Given the description of an element on the screen output the (x, y) to click on. 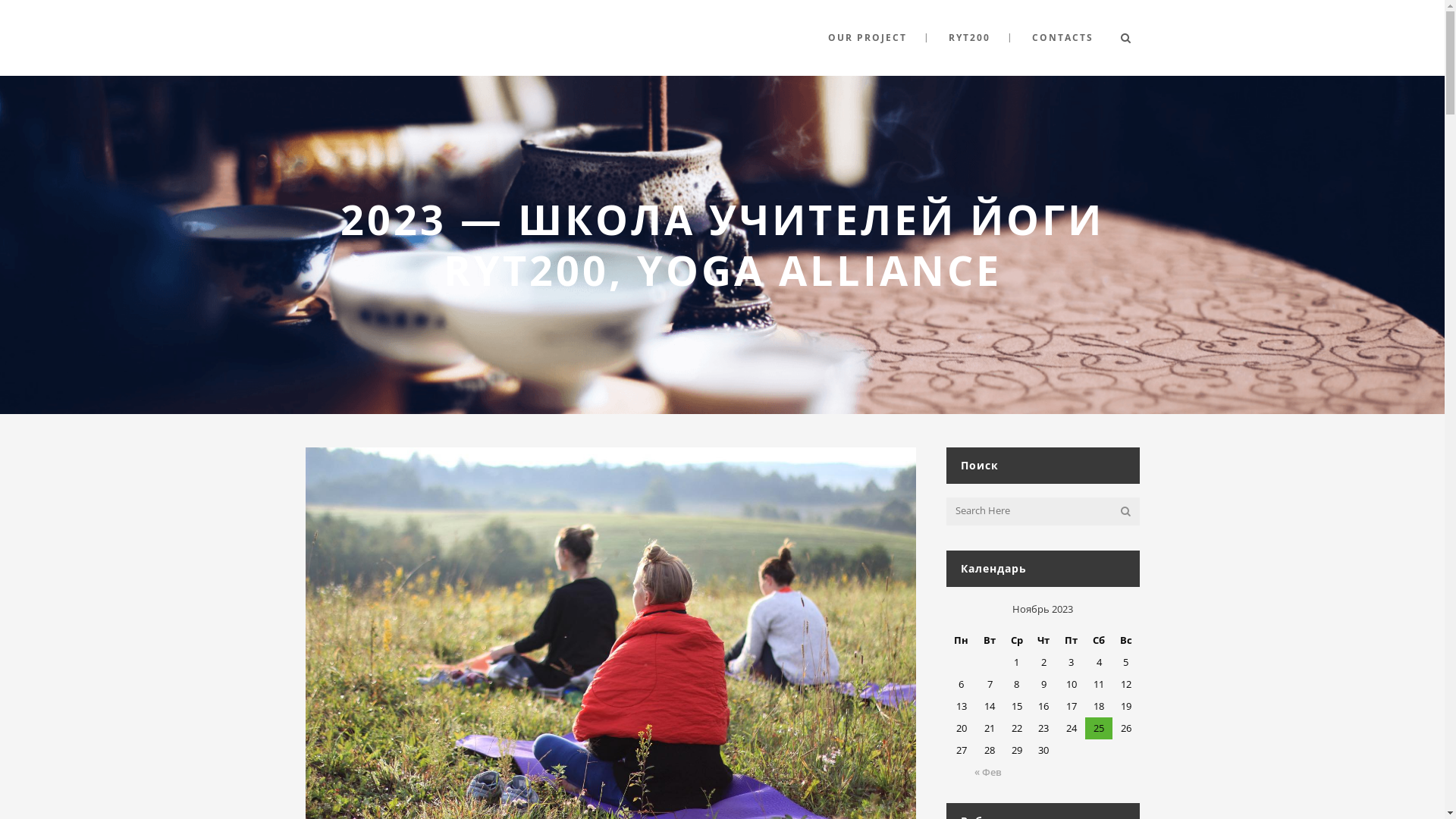
CONTACTS Element type: text (1061, 37)
RYT200 Element type: text (968, 37)
OUR PROJECT Element type: text (867, 37)
